Given the description of an element on the screen output the (x, y) to click on. 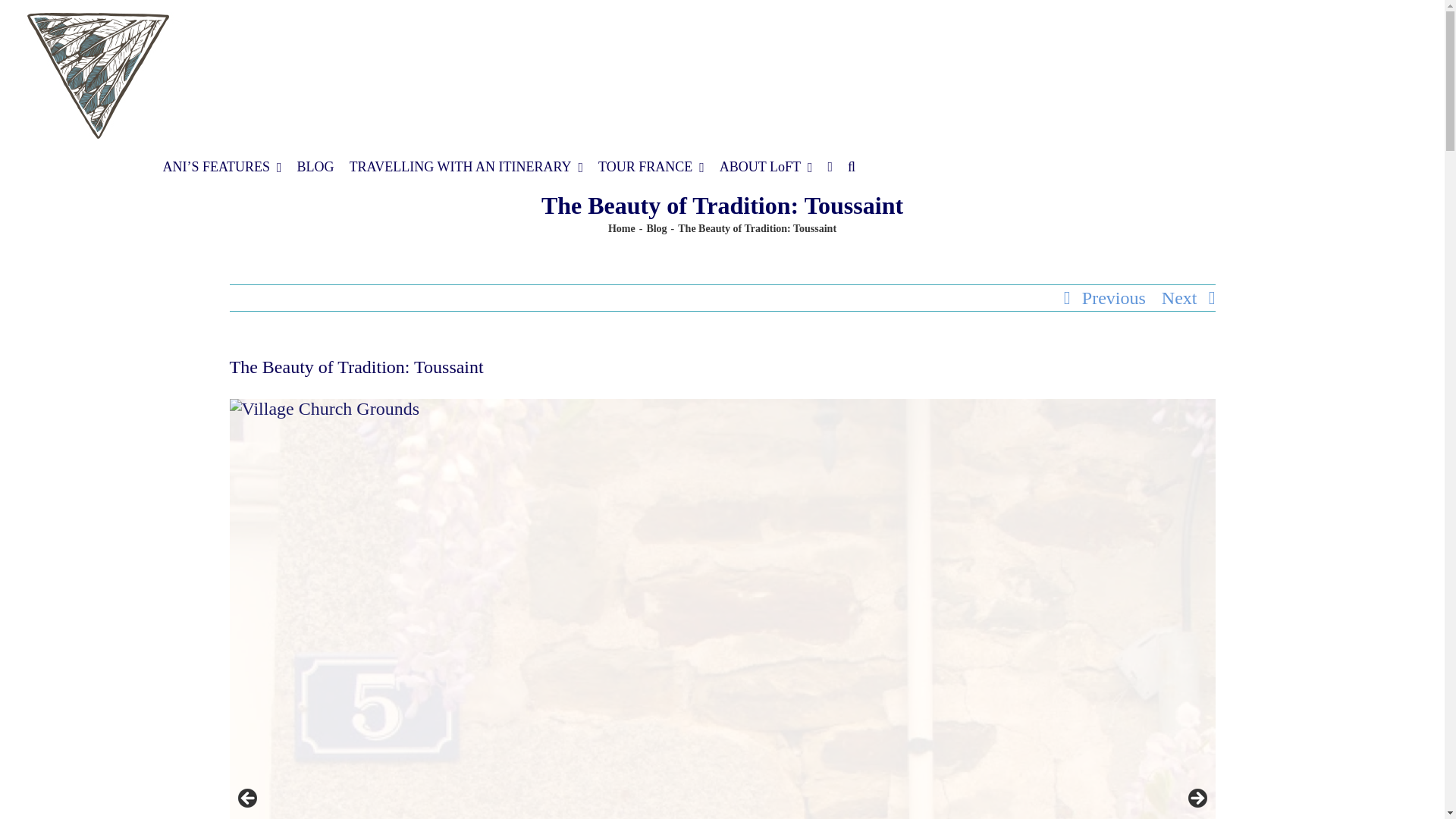
TOUR FRANCE (651, 166)
All Things French (315, 166)
Our Guided Tours (651, 166)
TRAVELLING WITH AN ITINERARY (466, 166)
ABOUT LoFT (765, 166)
BLOG (315, 166)
about-contact-reviews (765, 166)
